Given the description of an element on the screen output the (x, y) to click on. 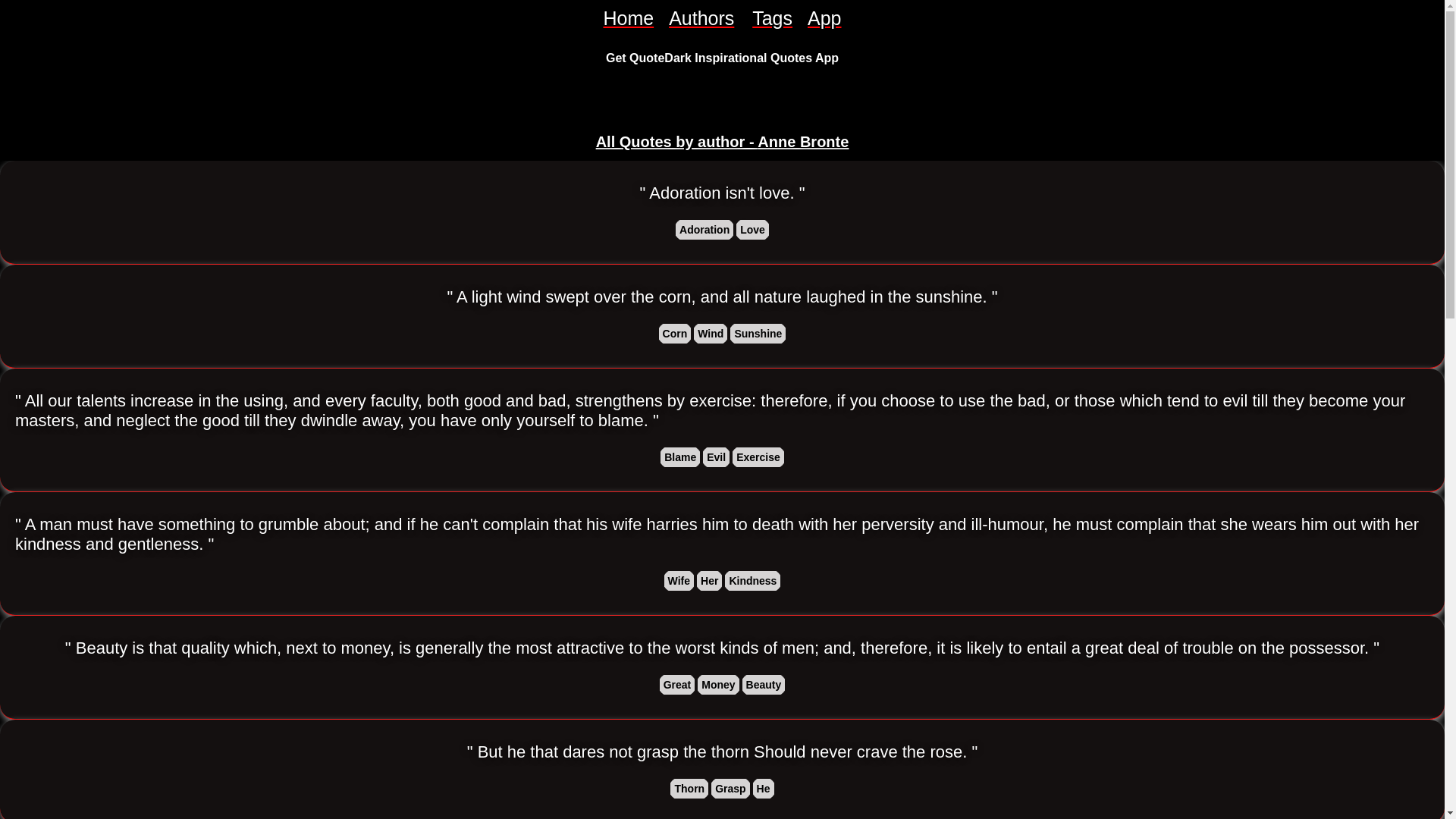
Evil (715, 456)
Love (752, 229)
Authors  (702, 18)
Sunshine (758, 333)
Adoration (704, 229)
Beauty (764, 684)
Corn (675, 333)
Money (717, 684)
Blame (680, 456)
He (763, 788)
App (824, 18)
